Given the description of an element on the screen output the (x, y) to click on. 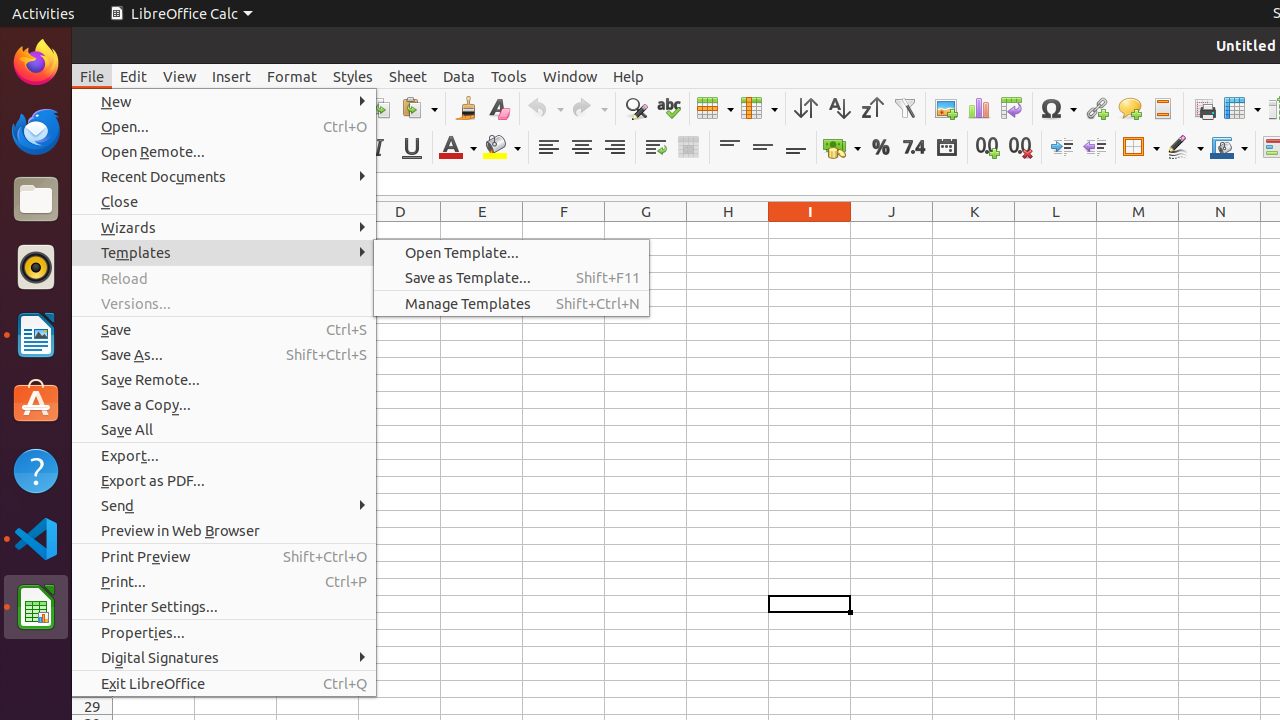
Underline Element type: push-button (411, 147)
Save a Copy... Element type: menu-item (224, 404)
H1 Element type: table-cell (728, 230)
E1 Element type: table-cell (482, 230)
View Element type: menu (179, 76)
